Given the description of an element on the screen output the (x, y) to click on. 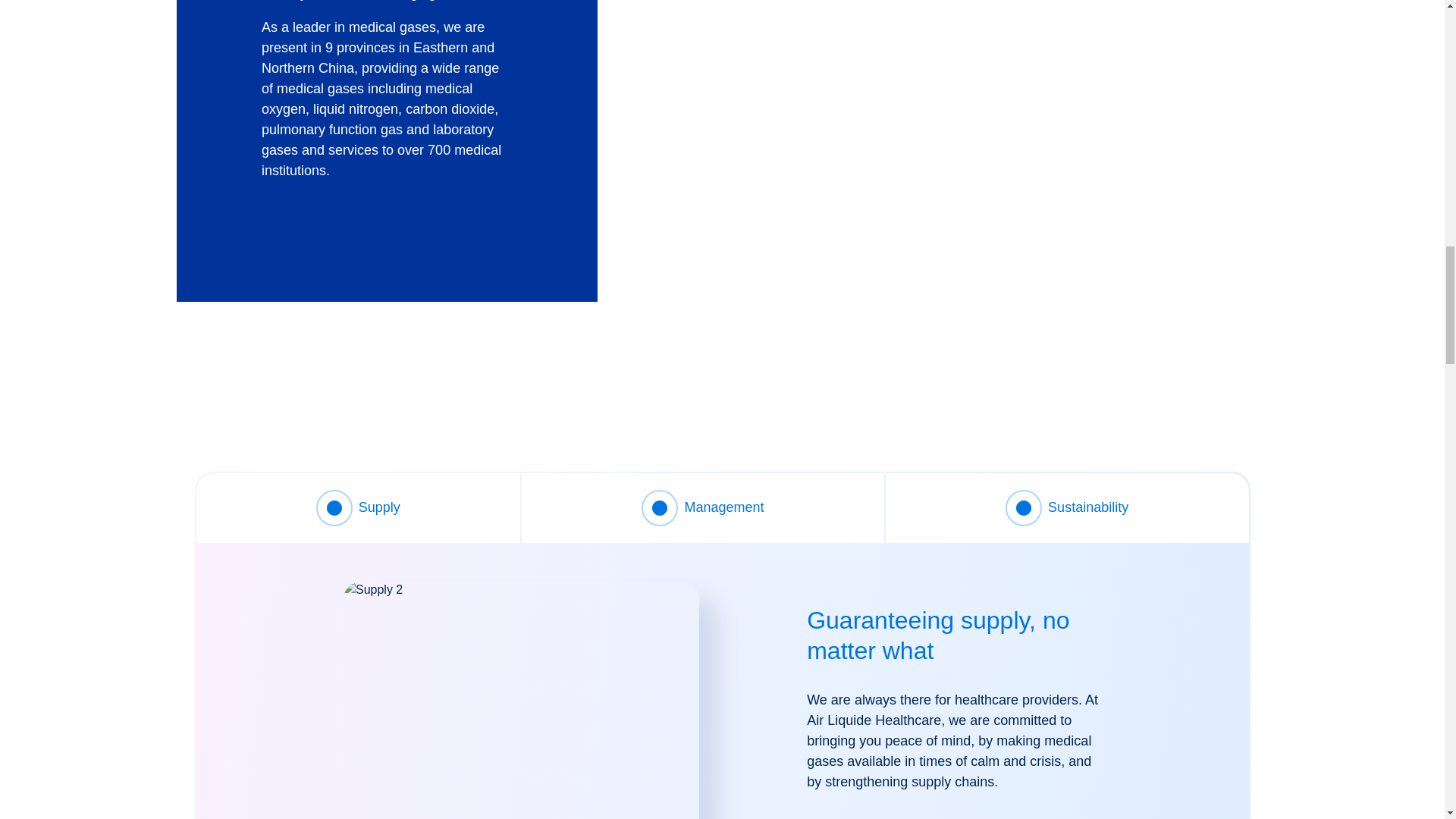
Supply (520, 699)
